Given the description of an element on the screen output the (x, y) to click on. 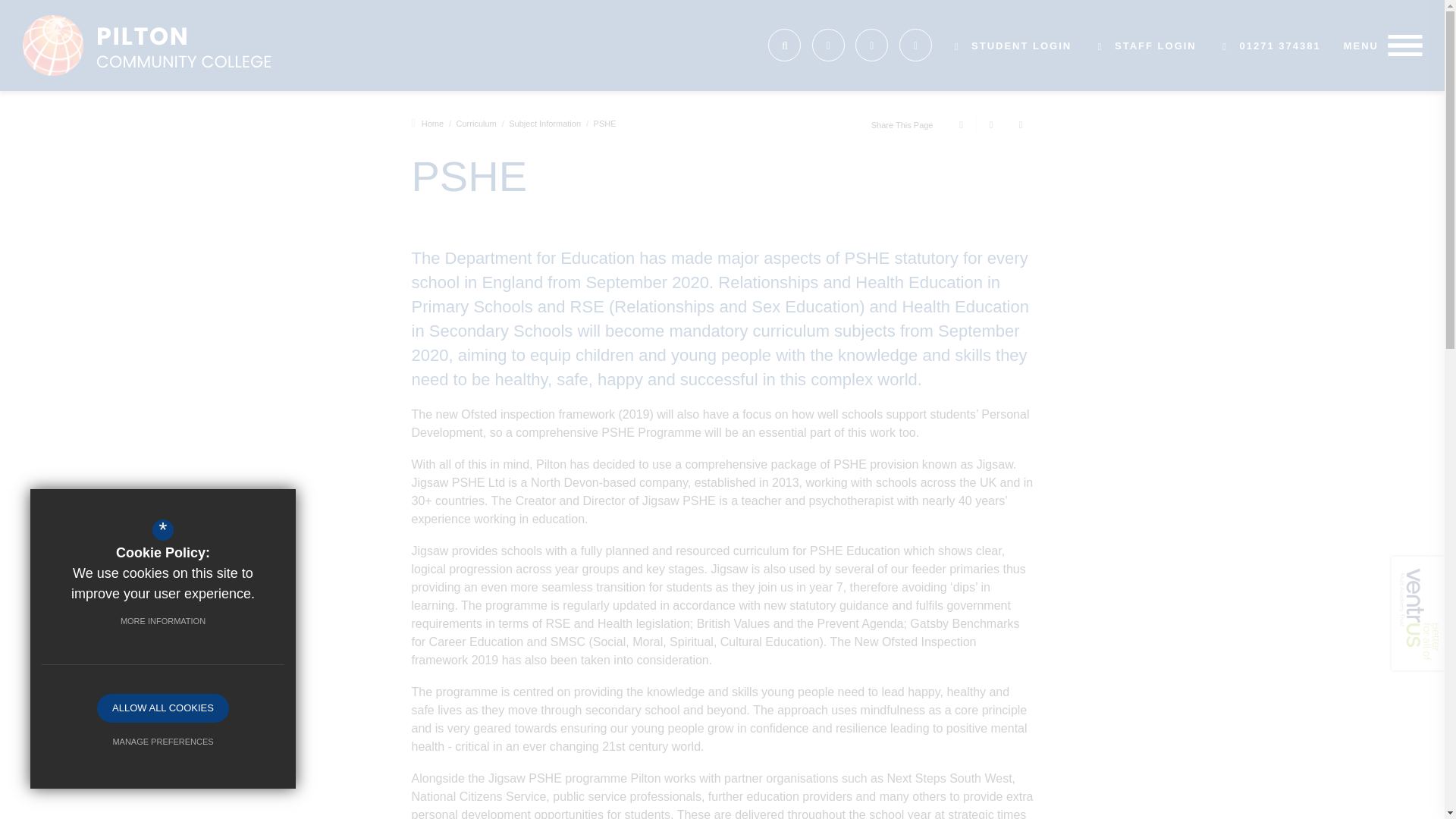
Share on Facebook (959, 124)
STAFF LOGIN (1146, 44)
Twitter (872, 44)
Pilton Community College (152, 45)
Share on Twitter (988, 124)
MENU (1382, 45)
Facebook (828, 44)
STUDENT LOGIN (1013, 44)
Email this page (1019, 124)
01271 374381 (1271, 44)
Search site (784, 44)
